Given the description of an element on the screen output the (x, y) to click on. 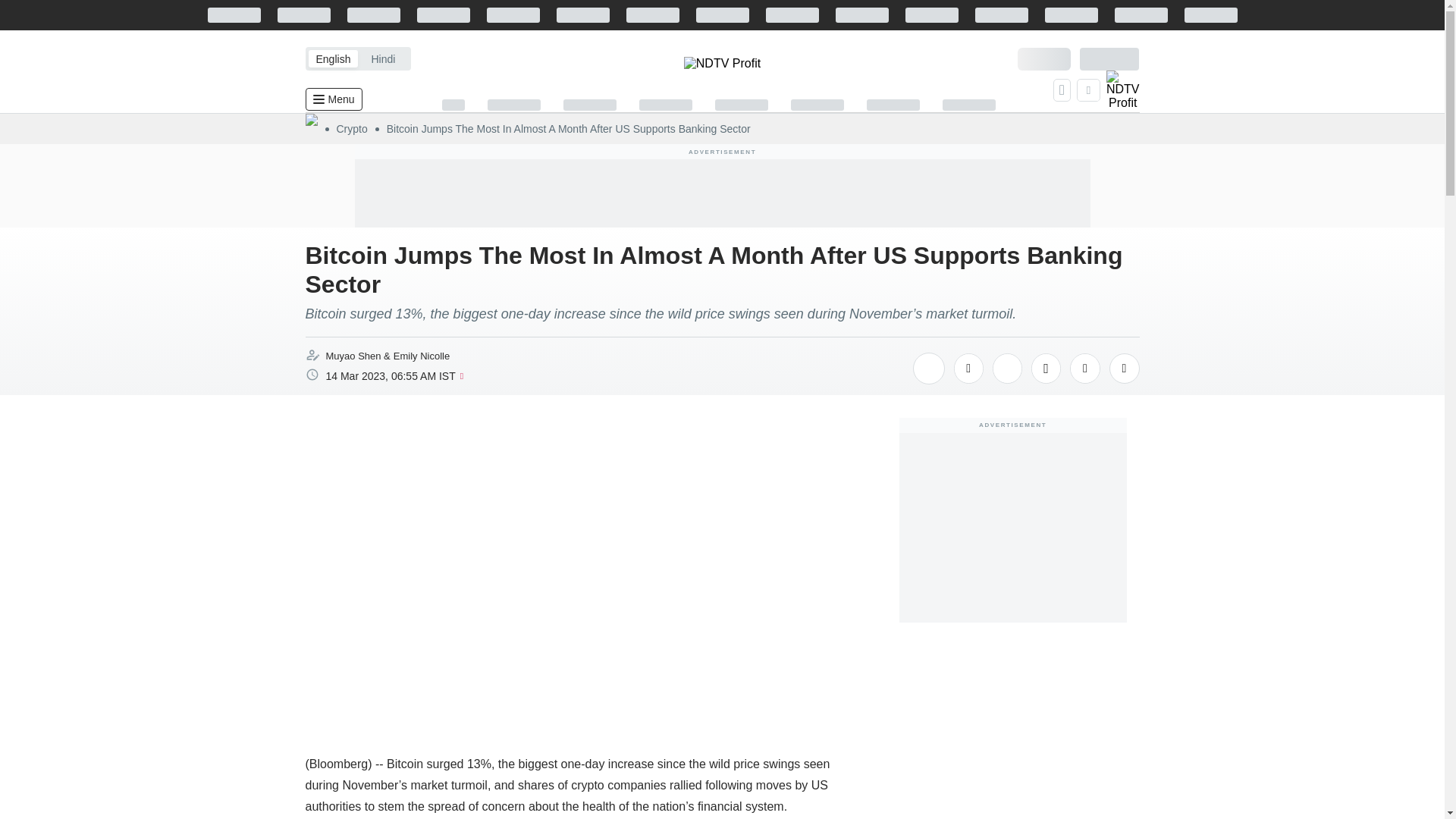
English (332, 58)
Hindi (382, 58)
Hindi (382, 58)
Menu (332, 98)
